Given the description of an element on the screen output the (x, y) to click on. 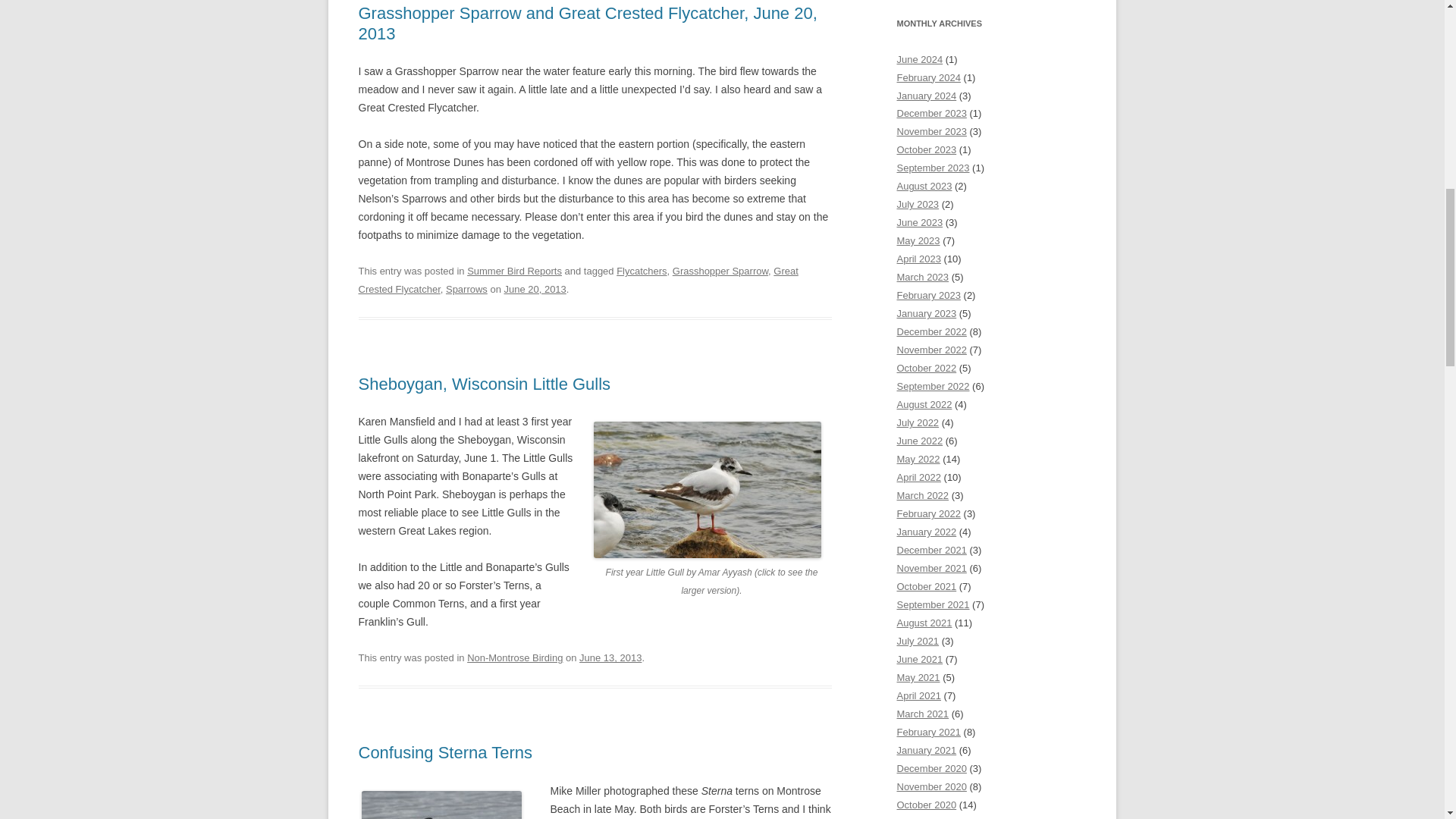
Grasshopper Sparrow (720, 270)
Forster's Terns (441, 805)
Confusing Sterna Terns (445, 752)
Sparrows (466, 288)
June 20, 2013 (534, 288)
Non-Montrose Birding (514, 657)
2:43 pm (610, 657)
Summer Bird Reports (514, 270)
June 13, 2013 (610, 657)
9:06 am (534, 288)
Great Crested Flycatcher (577, 279)
Little Gull (707, 489)
Flycatchers (640, 270)
Sheboygan, Wisconsin Little Gulls (484, 383)
